Given the description of an element on the screen output the (x, y) to click on. 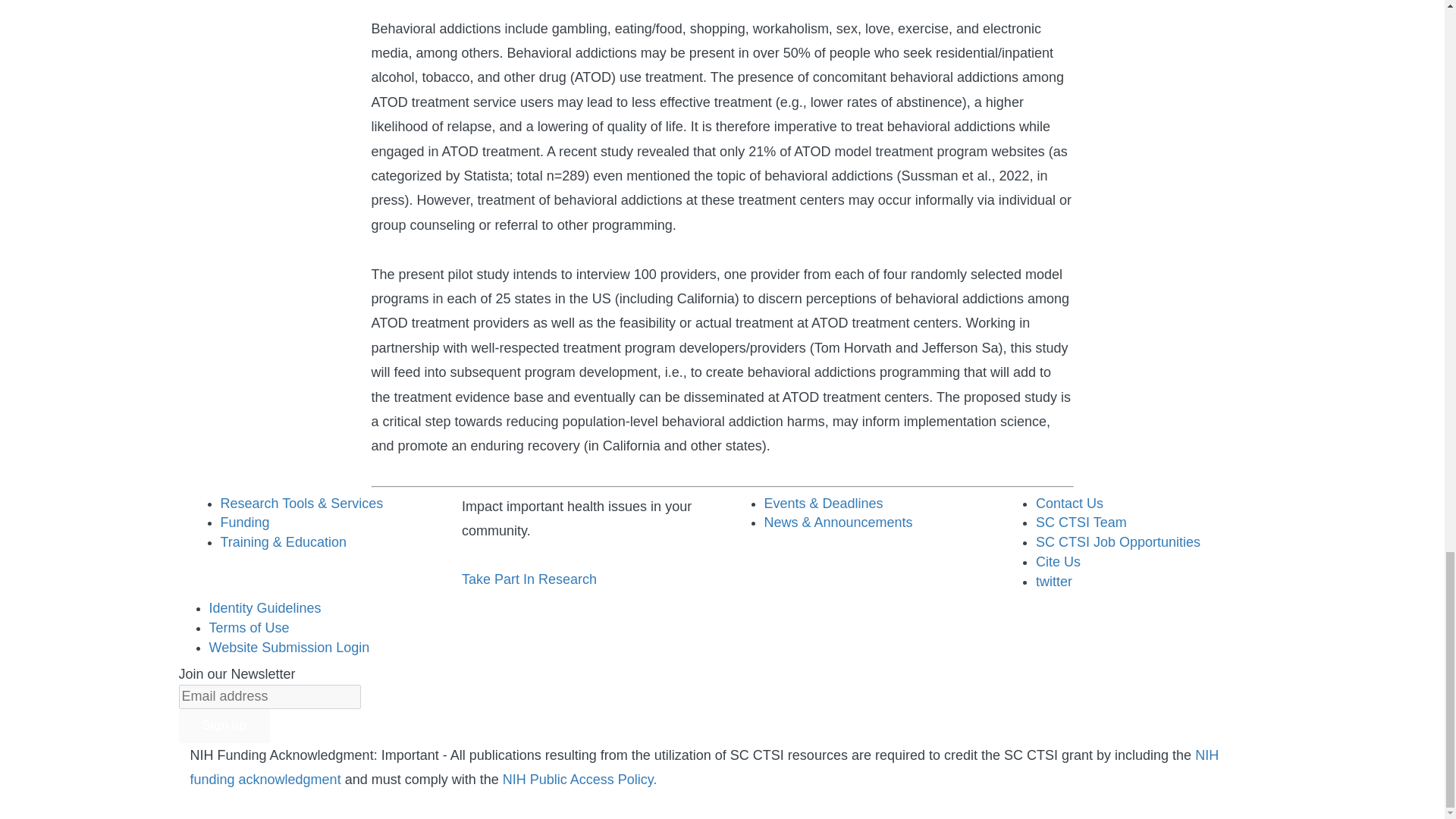
Sign up (224, 725)
